Given the description of an element on the screen output the (x, y) to click on. 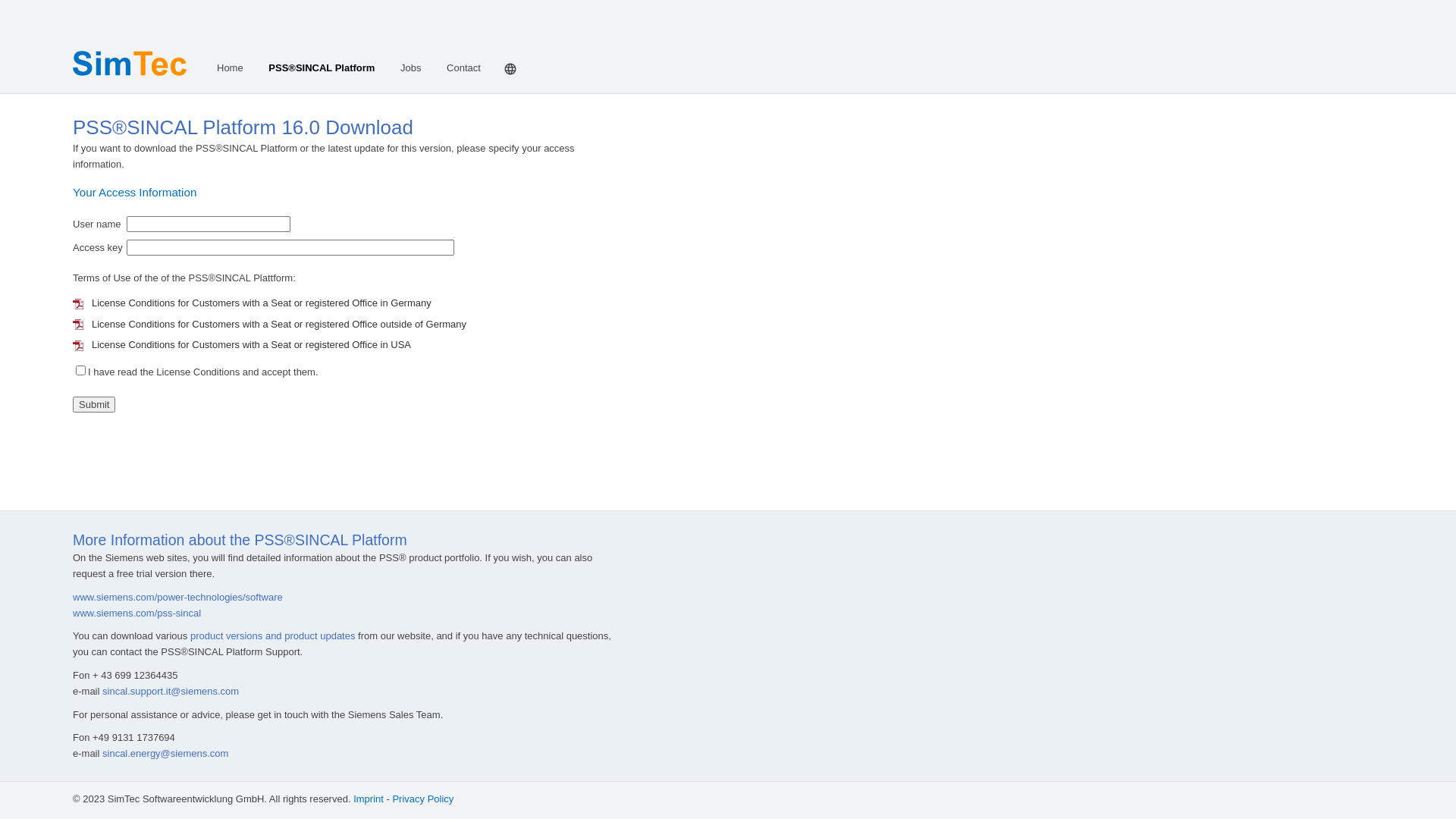
product versions and product updates Element type: text (272, 635)
www.siemens.com/pss-sincal Element type: text (136, 612)
www.siemens.com/power-technologies/software Element type: text (177, 596)
Jobs Element type: text (410, 67)
Privacy Policy Element type: text (422, 798)
Contact Element type: text (463, 67)
Home Element type: text (230, 67)
Imprint Element type: text (368, 798)
sincal.energy@siemens.com Element type: text (165, 753)
sincal.support.it@siemens.com Element type: text (170, 690)
Submit Element type: text (93, 404)
